Given the description of an element on the screen output the (x, y) to click on. 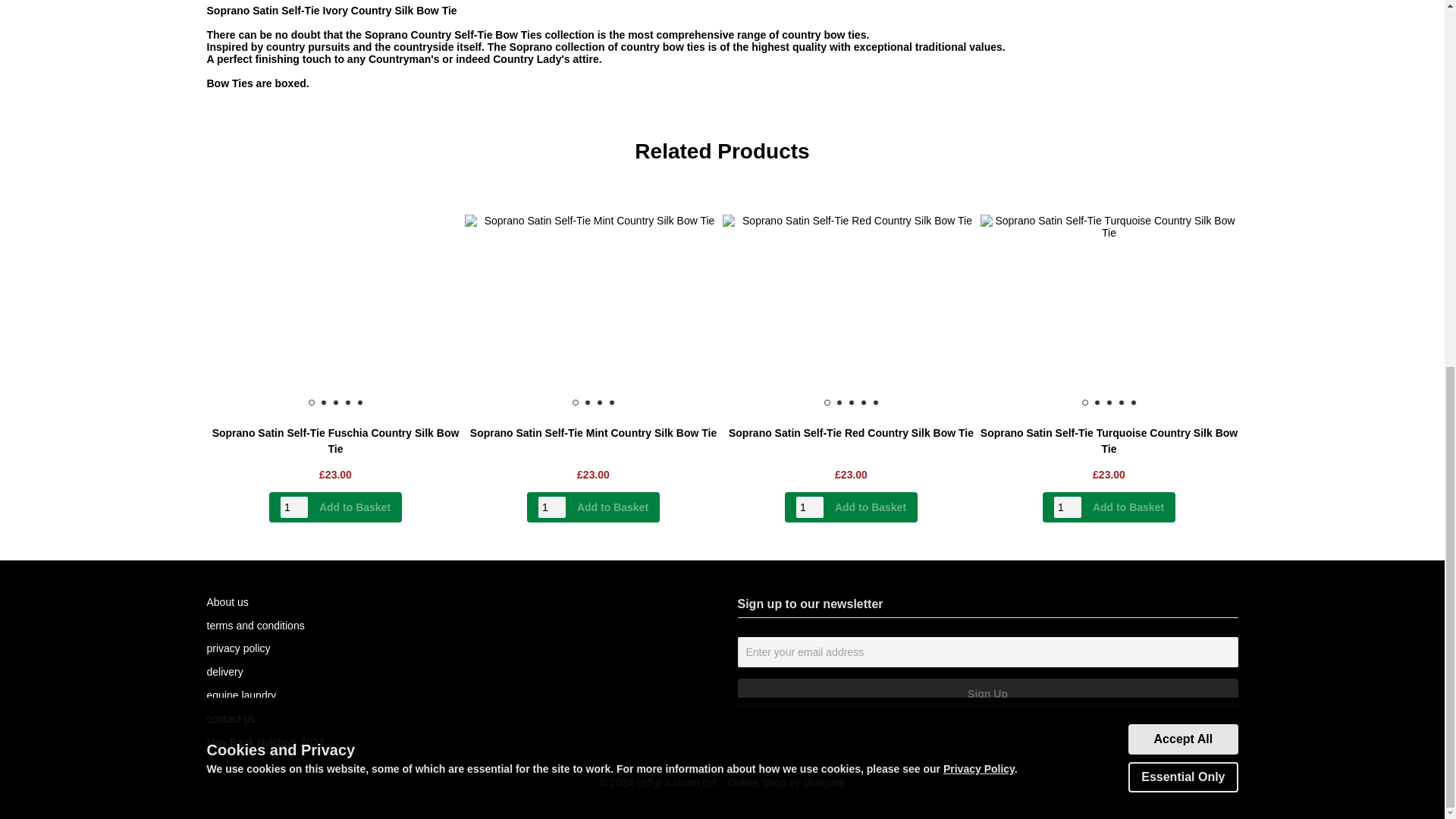
1 (810, 506)
1 (1067, 506)
1 (294, 506)
1 (552, 506)
